Given the description of an element on the screen output the (x, y) to click on. 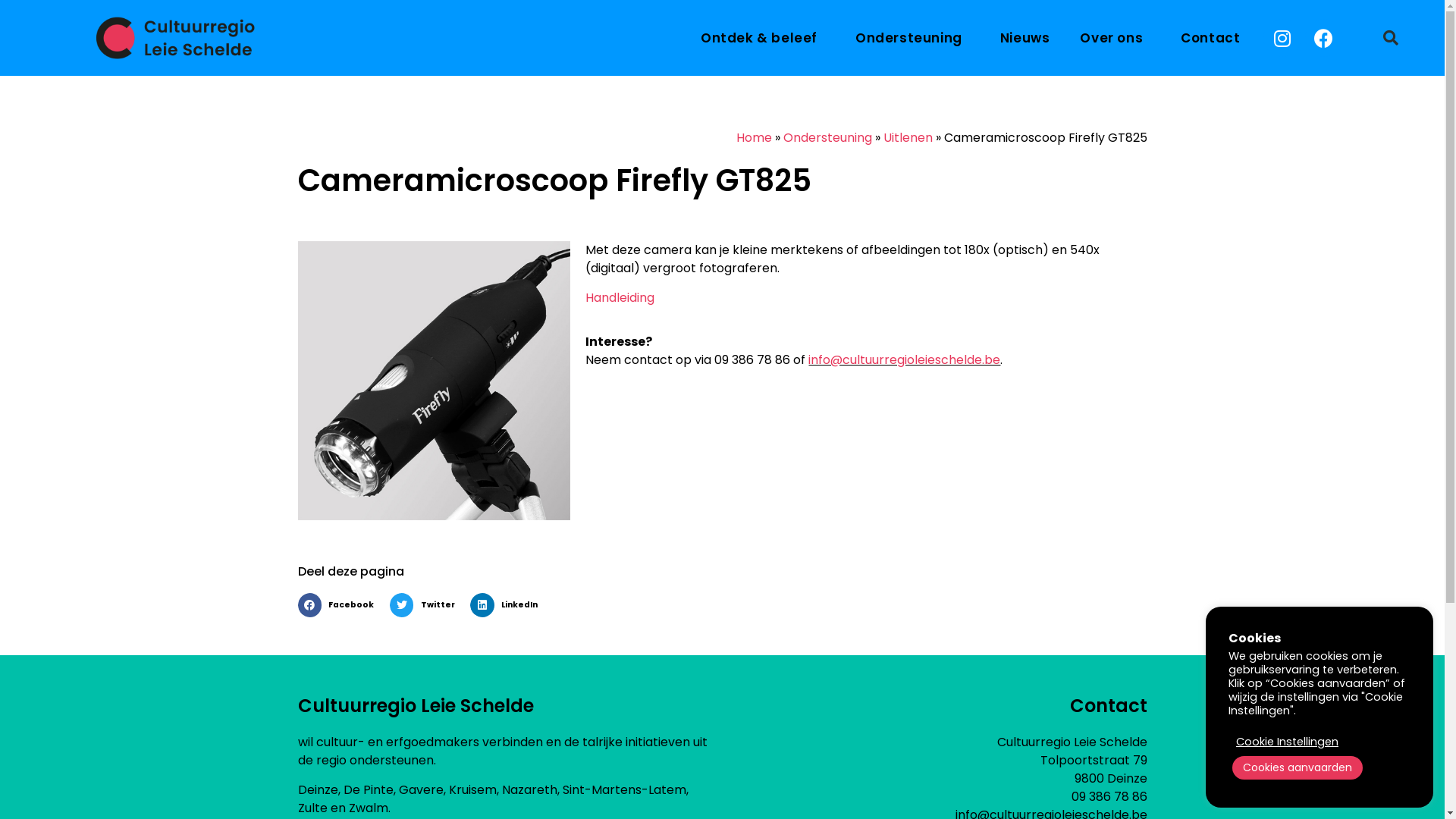
Handleiding Element type: text (619, 297)
Cookies aanvaarden Element type: text (1297, 767)
Contact Element type: text (1210, 37)
Ondersteuning Element type: text (912, 37)
Ontdek & beleef Element type: text (762, 37)
Nieuws Element type: text (1025, 37)
Cookie Instellingen Element type: text (1287, 741)
info@cultuurregioleieschelde.be Element type: text (904, 359)
Uitlenen Element type: text (906, 137)
09 386 78 86 Element type: text (1108, 796)
Over ons Element type: text (1114, 37)
Ondersteuning Element type: text (826, 137)
Home Element type: text (753, 137)
